Given the description of an element on the screen output the (x, y) to click on. 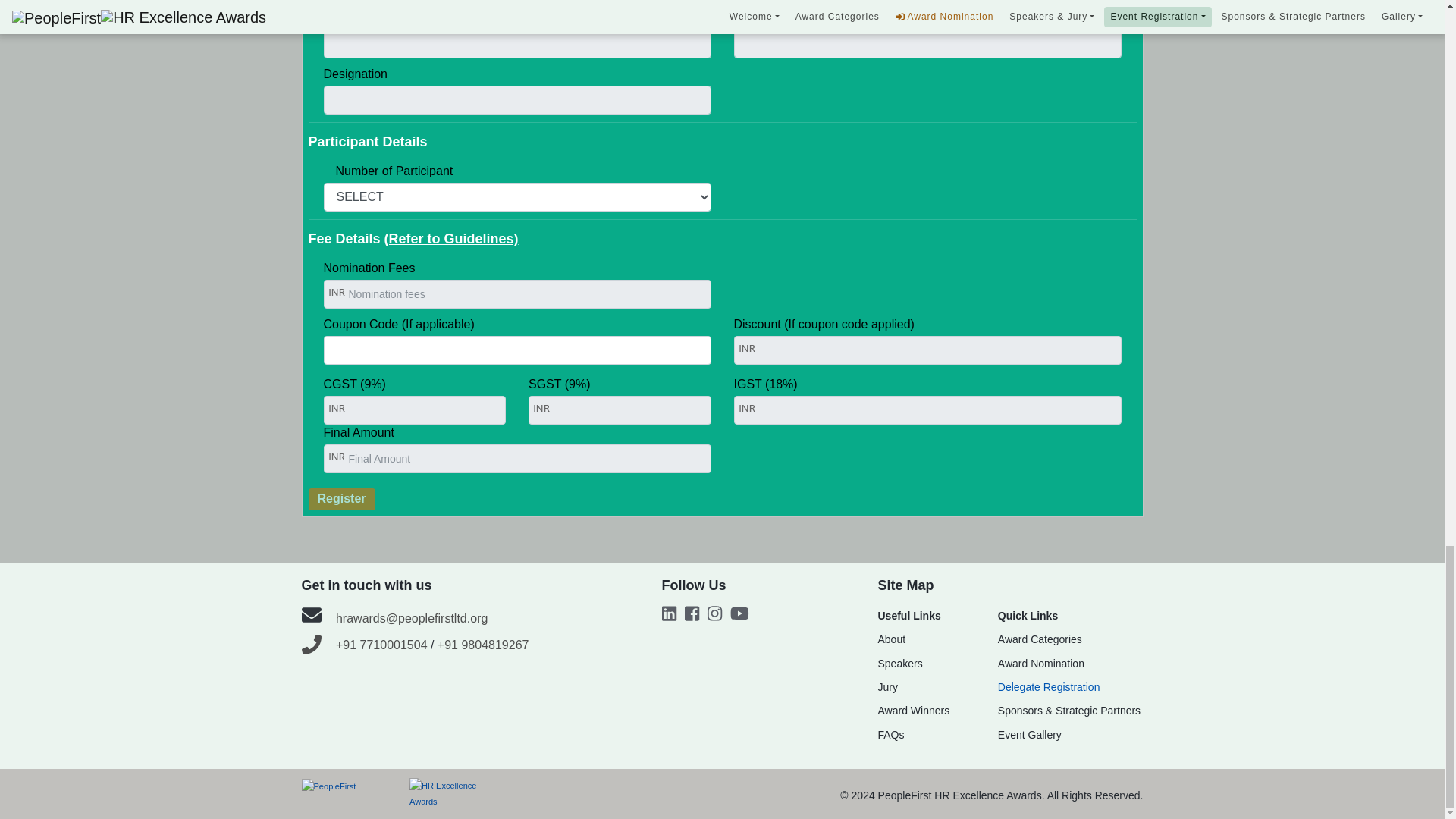
Company Youtube Page (742, 615)
Company landline number (311, 644)
Company Facebook Page (695, 615)
Company landline number (311, 644)
Company Instagram Page (718, 615)
Company LinkedIn Page (672, 615)
